Given the description of an element on the screen output the (x, y) to click on. 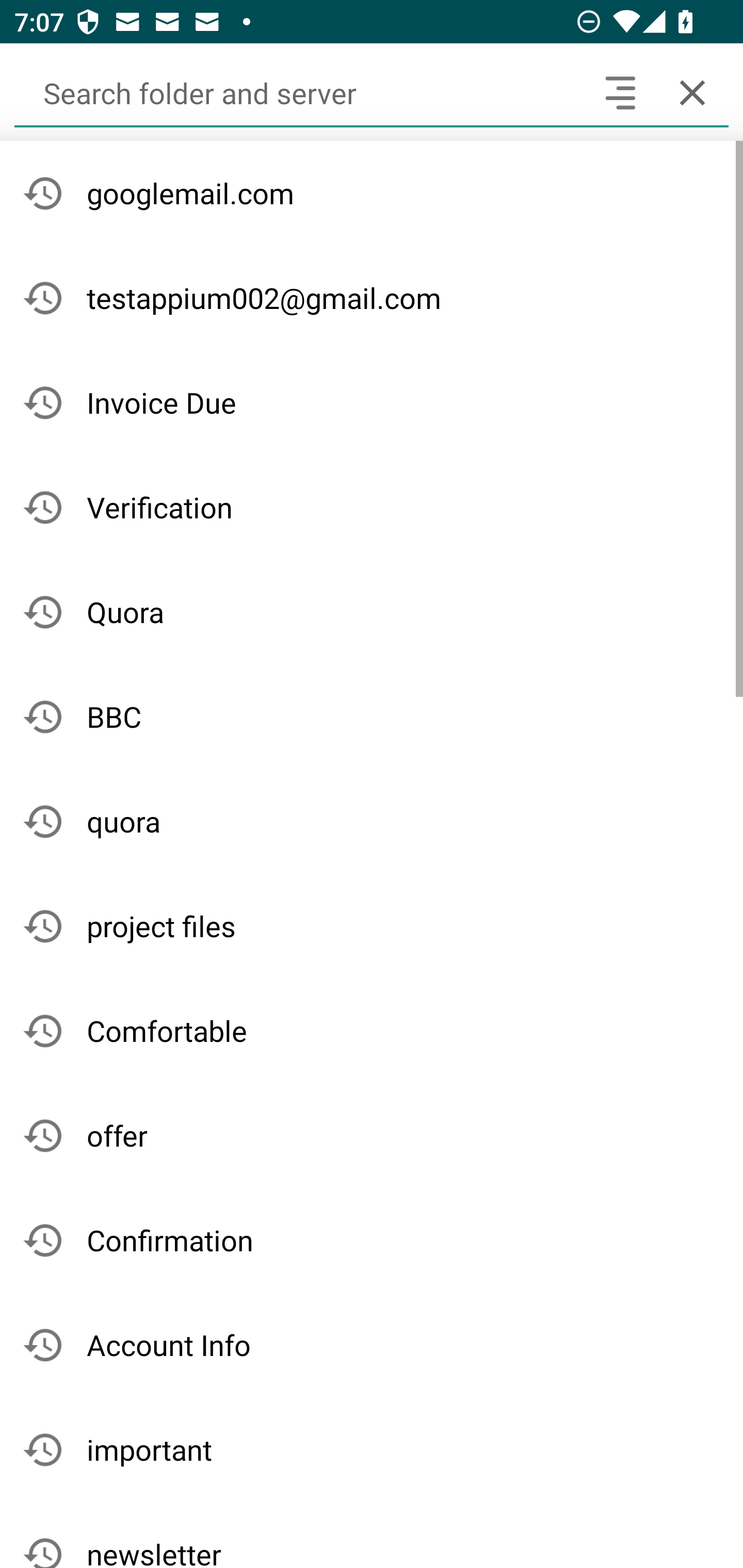
   Search folder and server (298, 92)
Search headers and text (619, 92)
Cancel (692, 92)
